Given the description of an element on the screen output the (x, y) to click on. 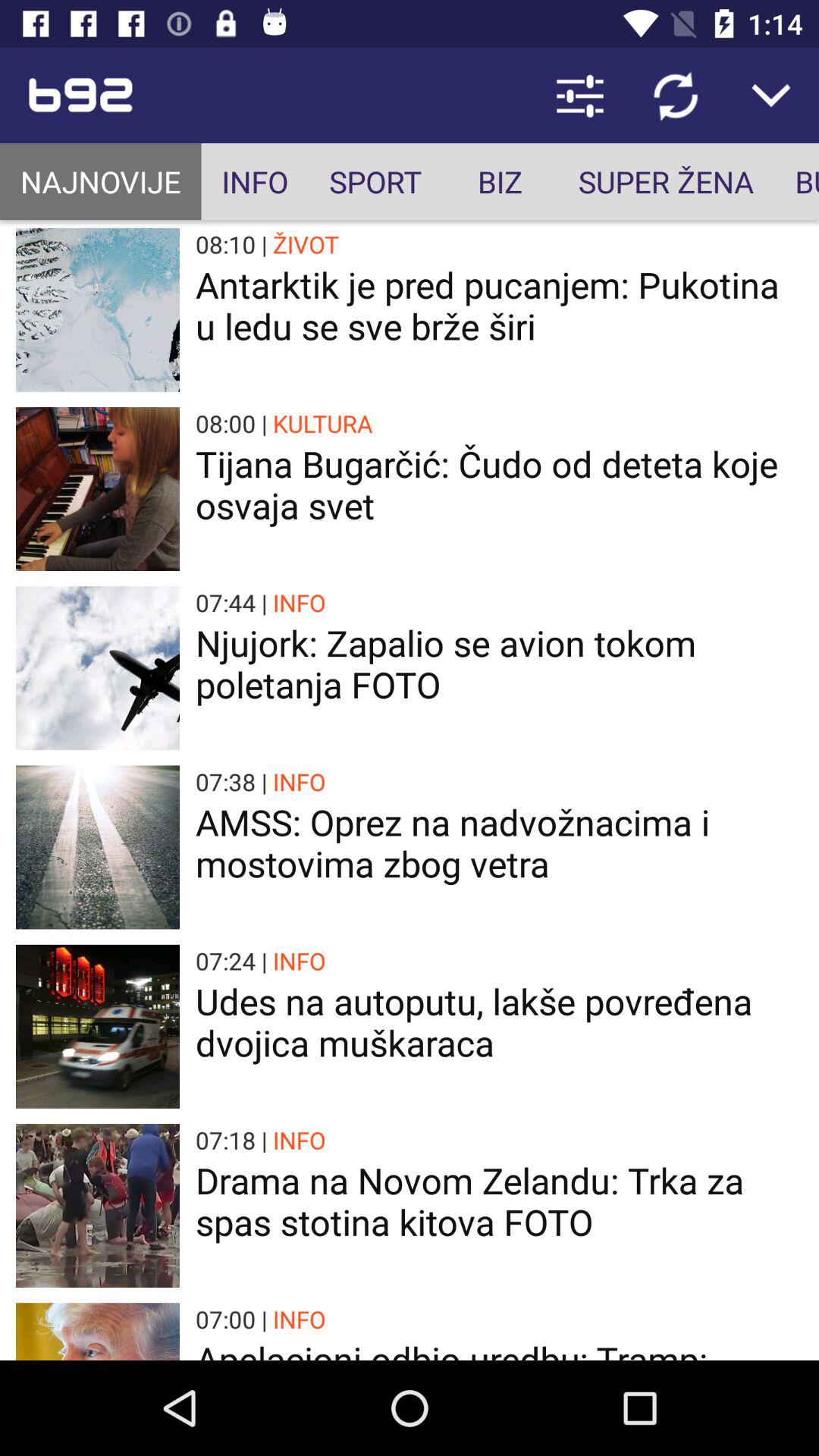
choose the app below 07:38 | (499, 842)
